Given the description of an element on the screen output the (x, y) to click on. 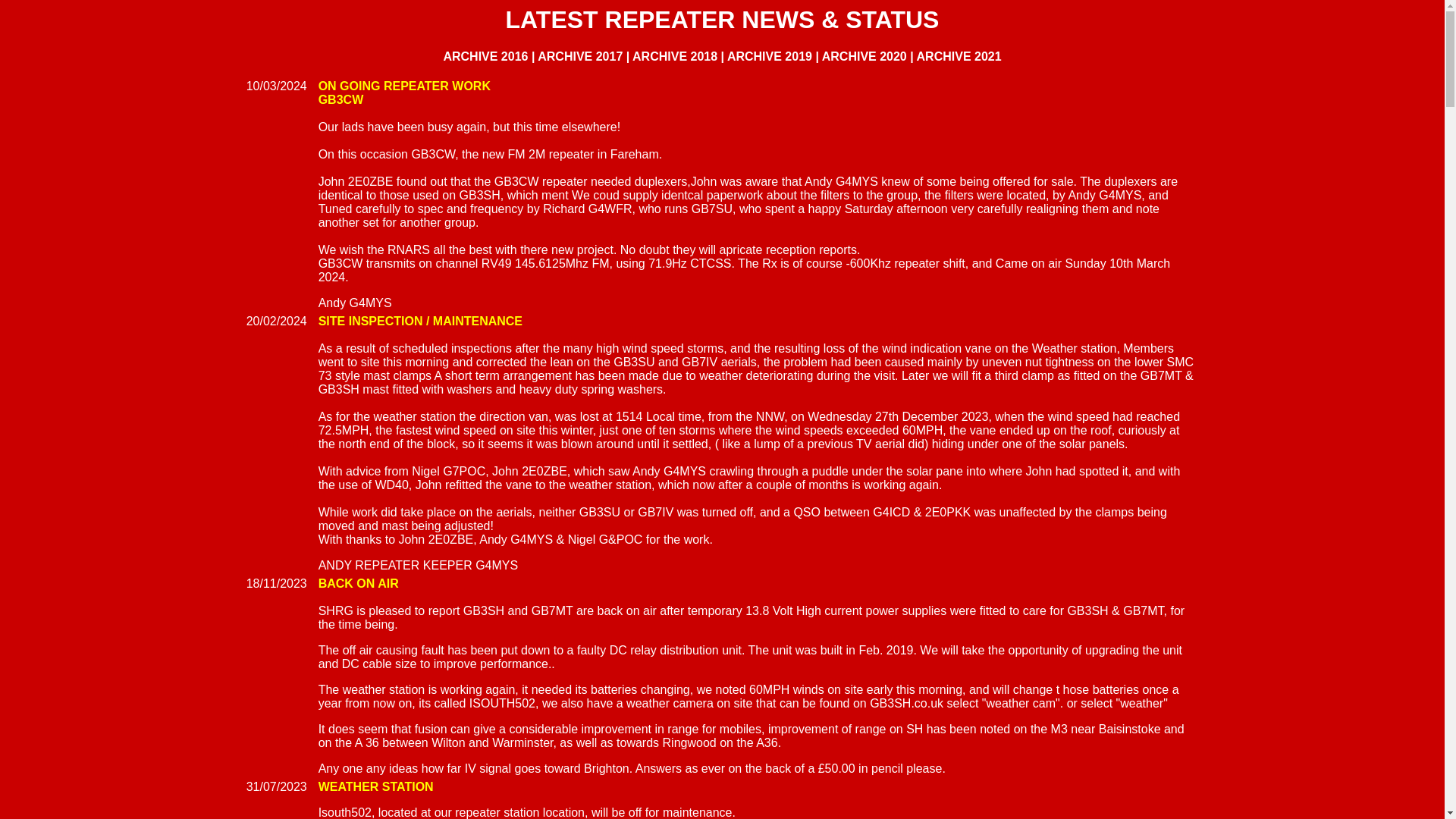
ARCHIVE 2016 (486, 56)
ARCHIVE 2017 (580, 56)
ARCHIVE 2019 (769, 56)
ARCHIVE 2018 (674, 56)
ARCHIVE 2020 (864, 56)
ARCHIVE 2021 (959, 56)
